Given the description of an element on the screen output the (x, y) to click on. 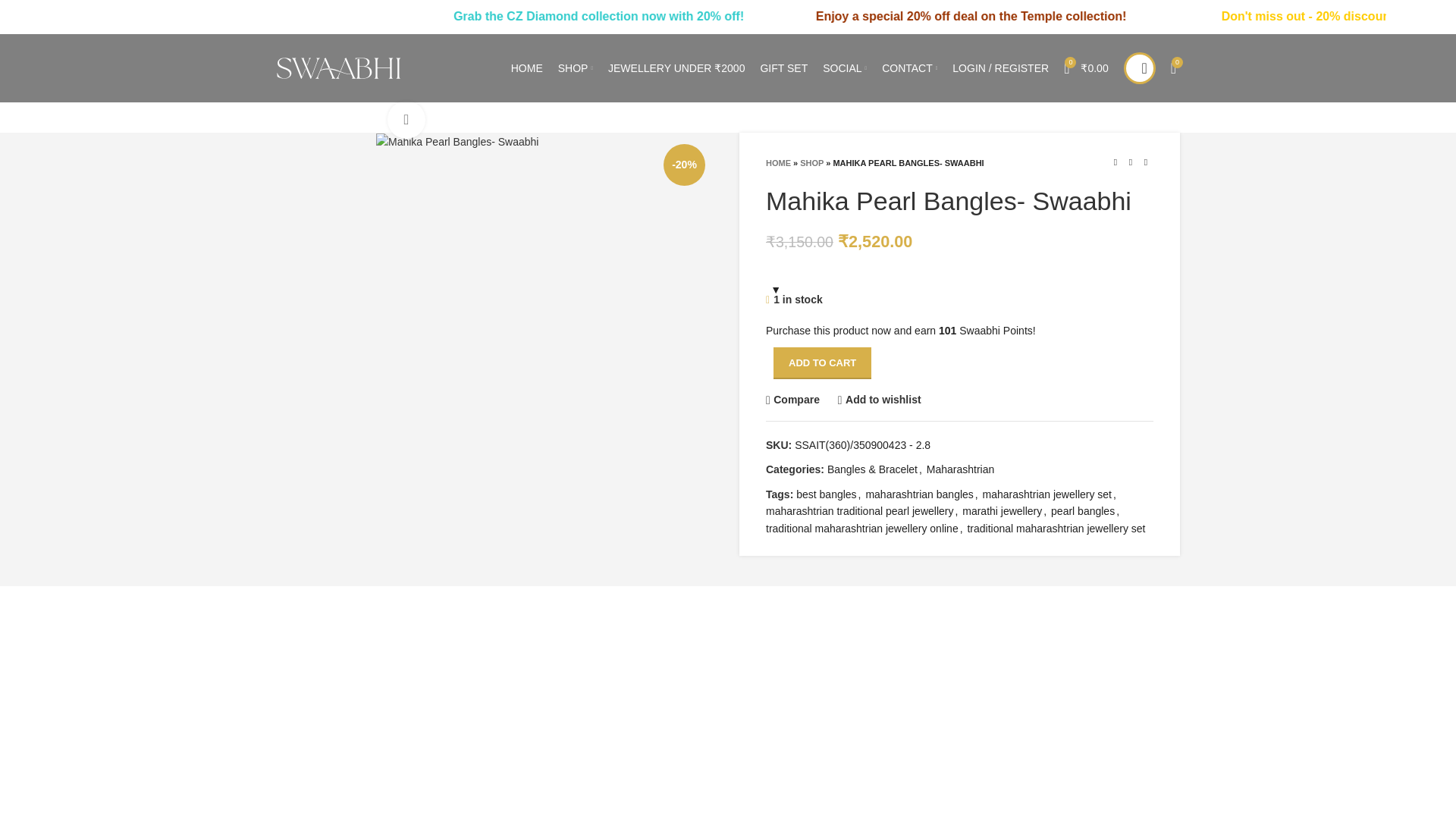
CZ Diamond (675, 15)
SHOP (574, 68)
Temple collection! (1213, 15)
HOME (527, 68)
